Given the description of an element on the screen output the (x, y) to click on. 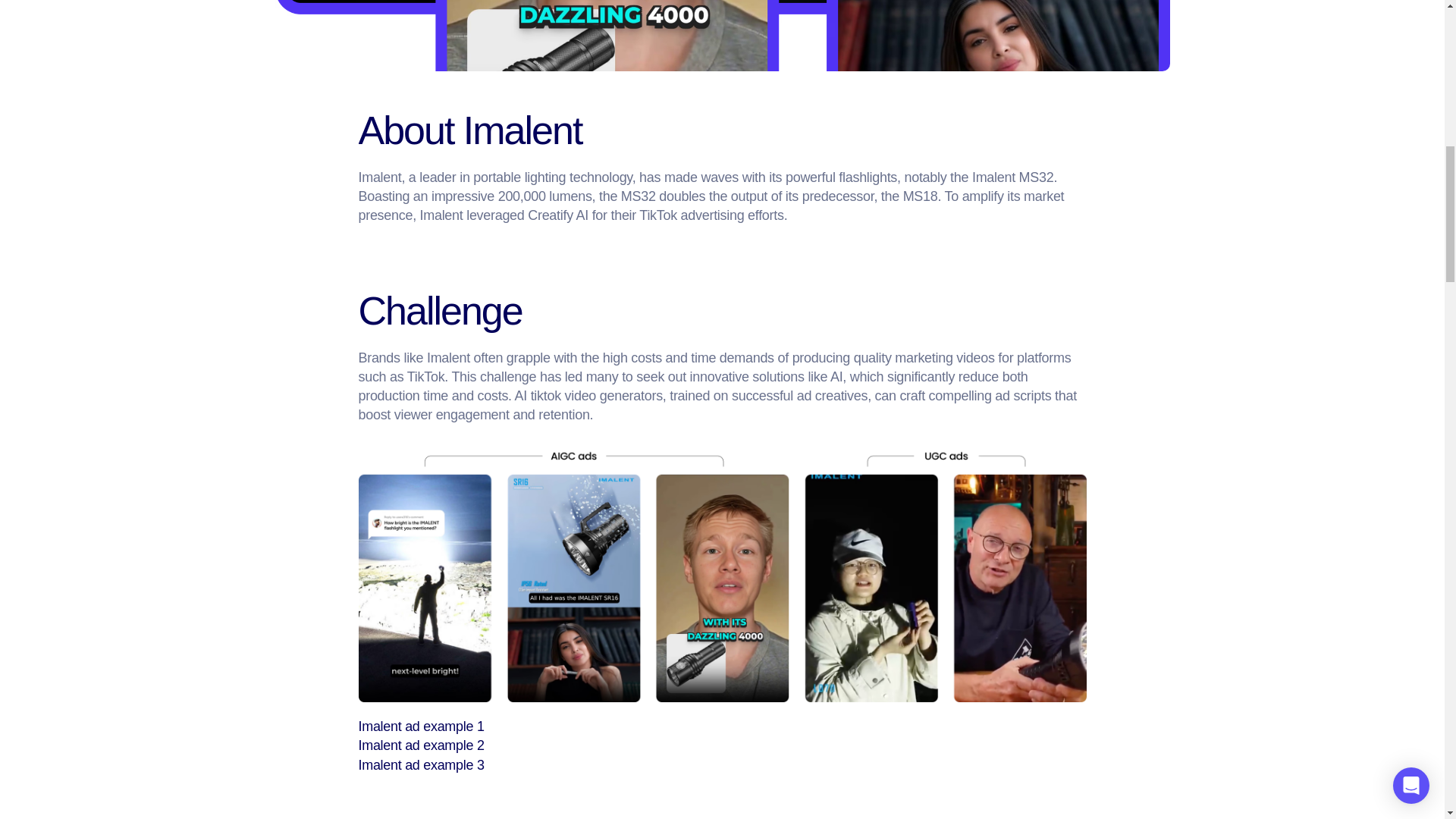
Imalent ad example 1 (420, 726)
Imalent ad example 2 (420, 744)
Imalent ad example 3 (420, 765)
